Given the description of an element on the screen output the (x, y) to click on. 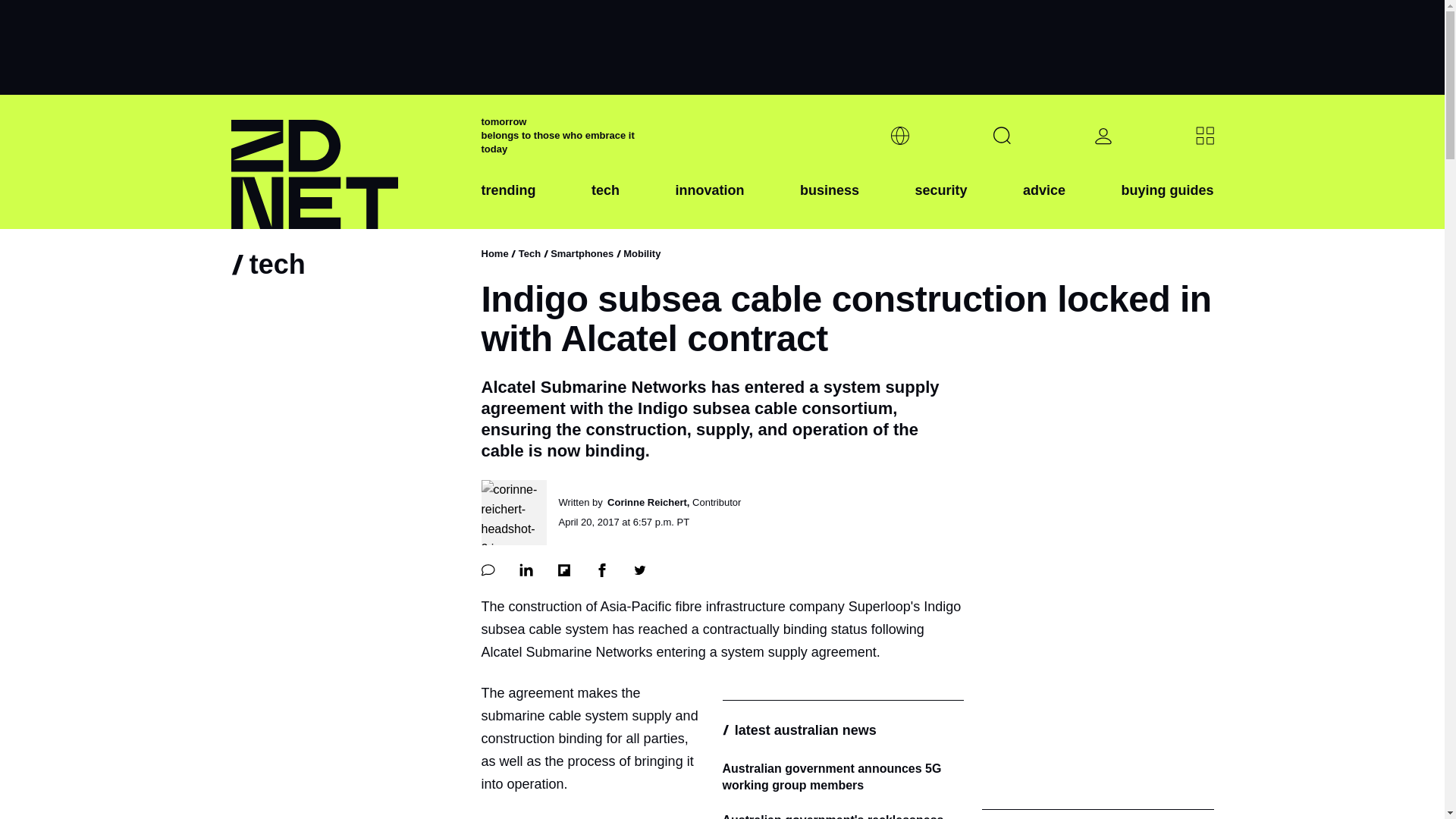
ZDNET (346, 162)
tech (605, 202)
trending (507, 202)
